Given the description of an element on the screen output the (x, y) to click on. 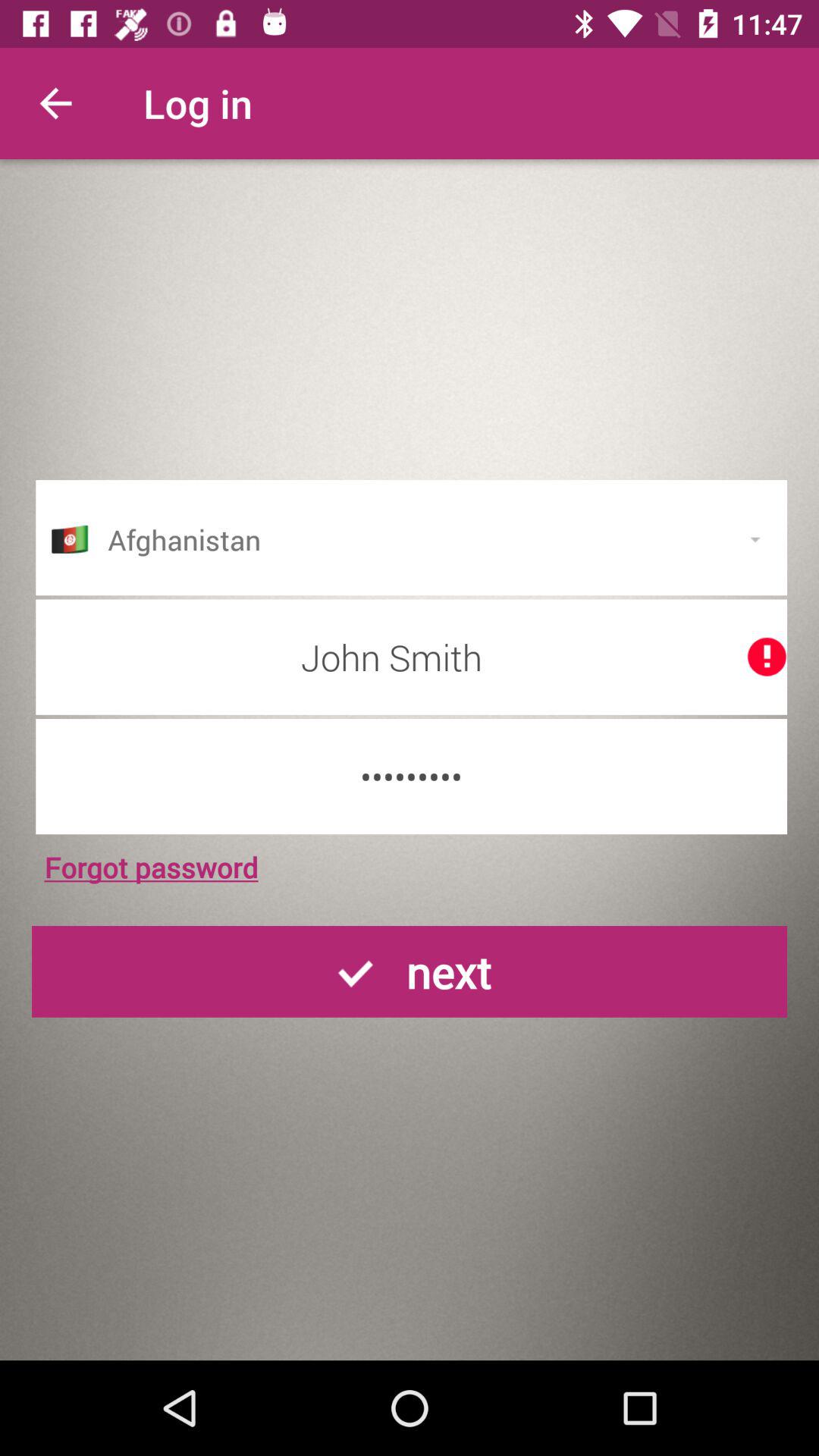
swipe to crowd3116 (411, 776)
